Given the description of an element on the screen output the (x, y) to click on. 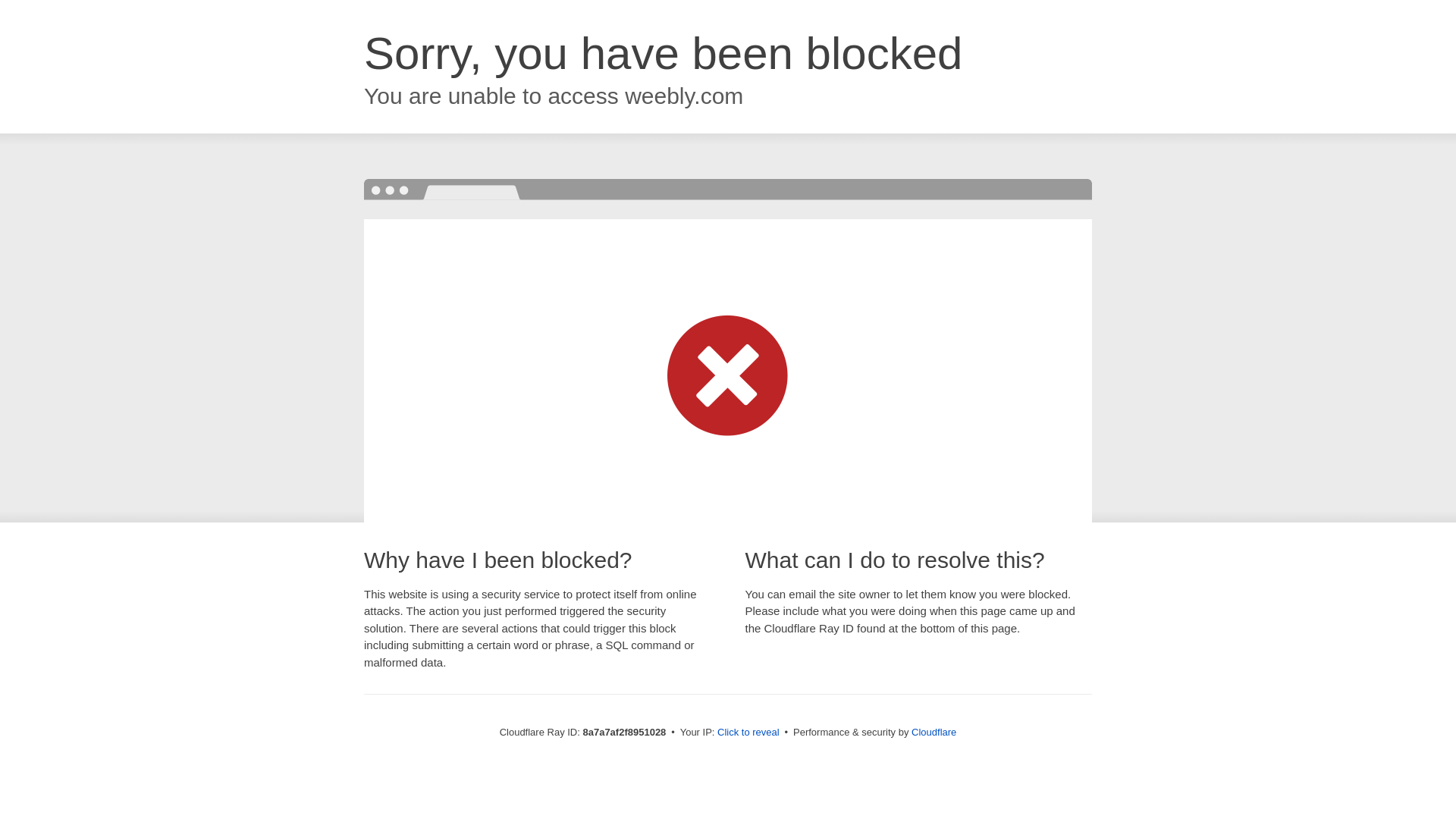
Cloudflare (933, 731)
Click to reveal (747, 732)
